Given the description of an element on the screen output the (x, y) to click on. 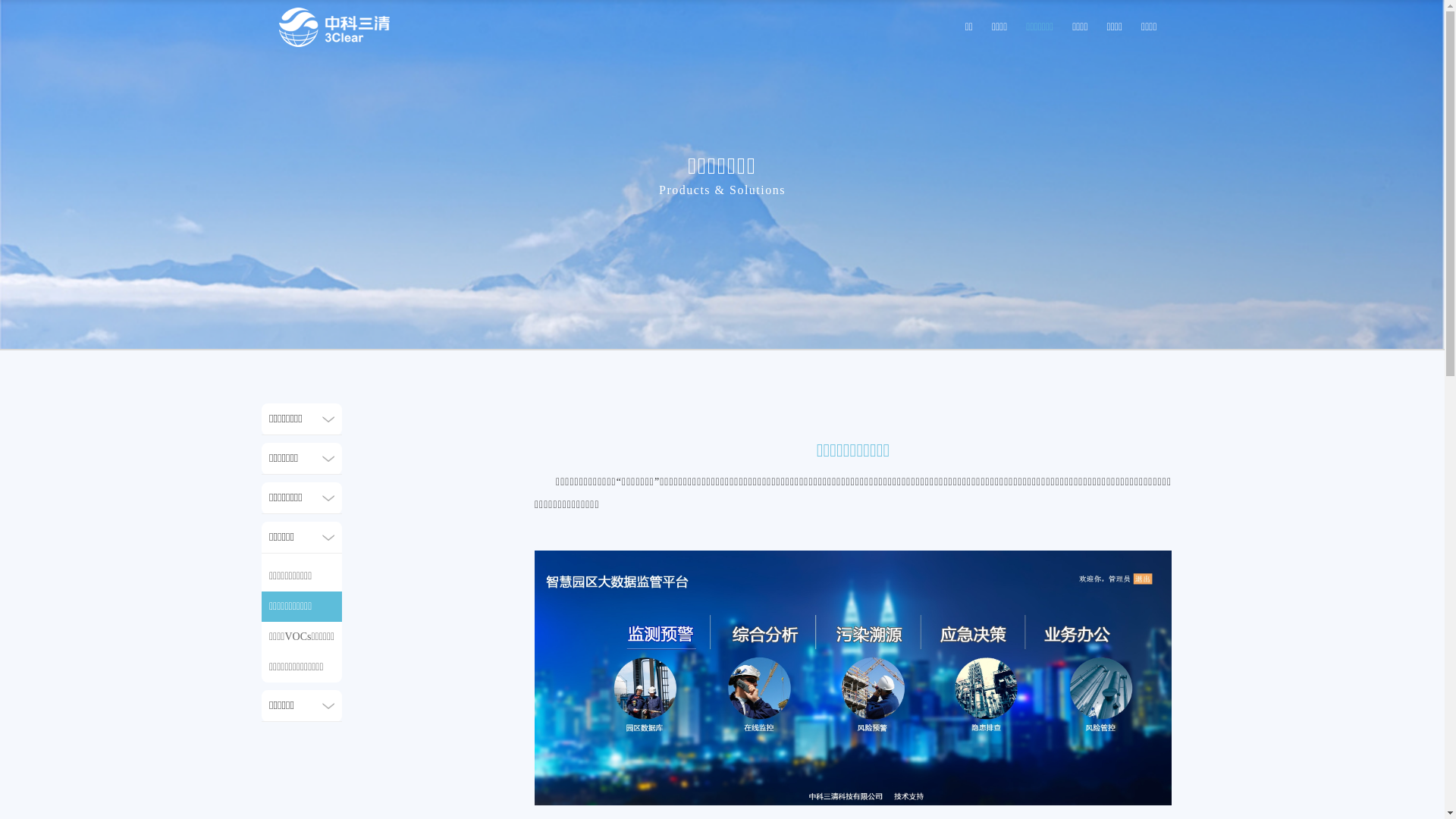
Products & Solutions Element type: text (721, 190)
85cc2bc30172a19dfd33b7203d021f66.jpg Element type: hover (852, 677)
